Given the description of an element on the screen output the (x, y) to click on. 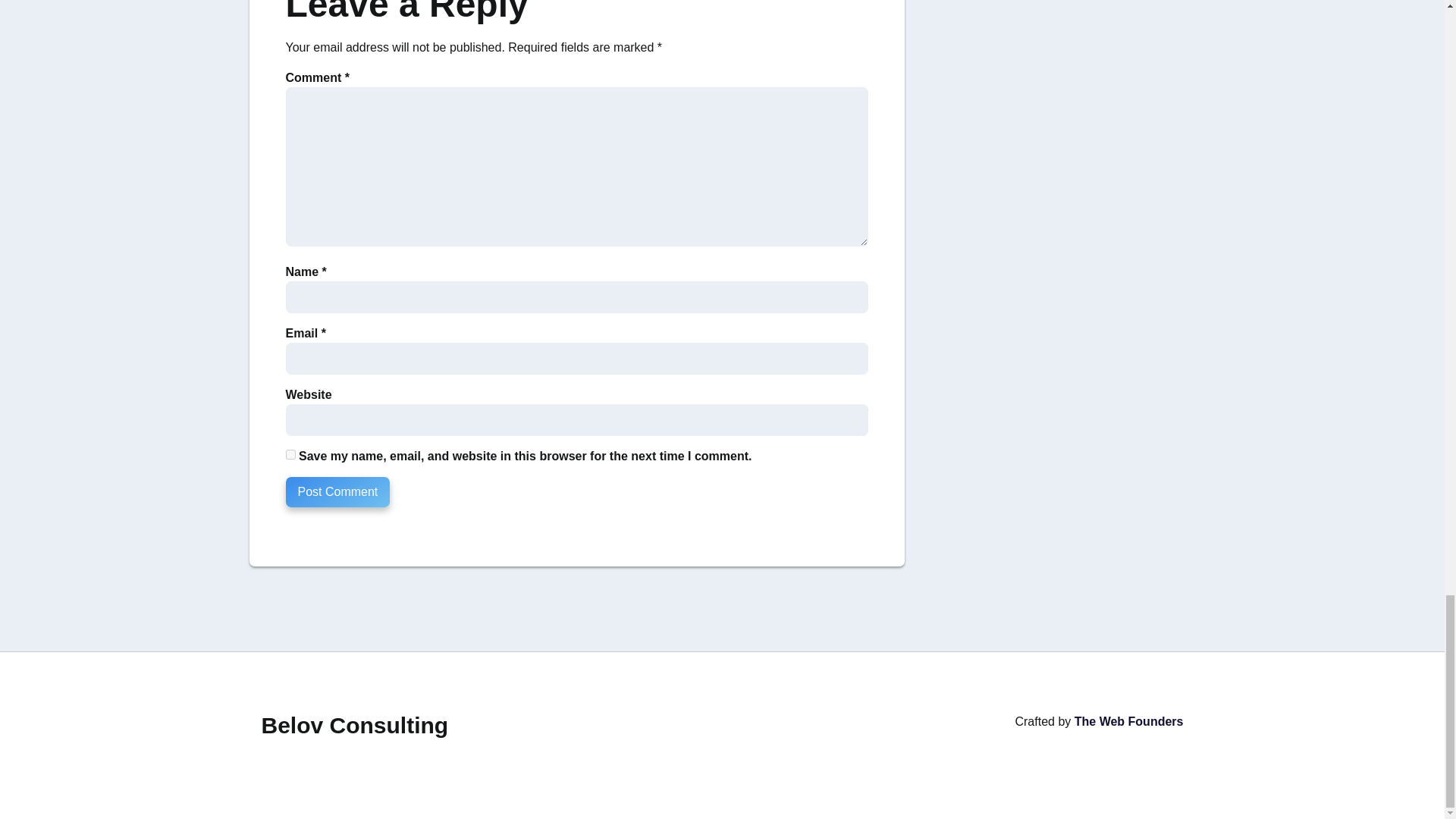
Post Comment (337, 491)
yes (290, 454)
